Given the description of an element on the screen output the (x, y) to click on. 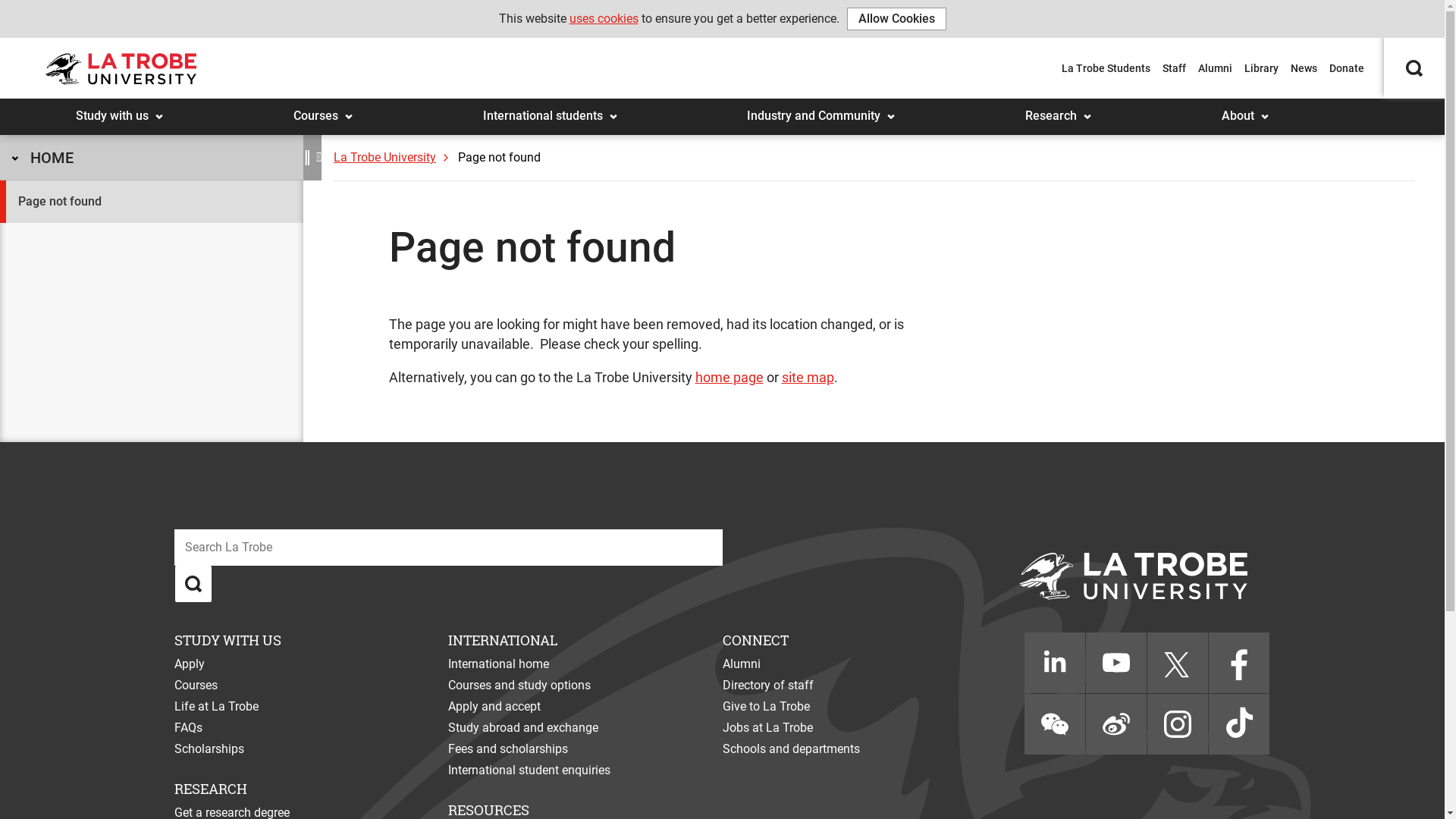
About Element type: hover (1211, 103)
Facebook Element type: text (1238, 662)
News Element type: text (1303, 68)
Jobs at La Trobe Element type: text (767, 727)
Twitter Element type: text (1177, 662)
LinkedIn Element type: text (1054, 662)
Apply and accept Element type: text (494, 706)
Apply Element type: text (189, 663)
Allow Cookies Element type: text (895, 18)
Weibo Element type: text (1115, 723)
WeChat Element type: text (1054, 723)
Staff Element type: text (1174, 68)
Give to La Trobe Element type: text (765, 706)
Courses and study options Element type: text (519, 684)
La Trobe Students Element type: text (1105, 68)
International students Element type: hover (472, 103)
Page not found Element type: text (499, 157)
Study abroad and exchange Element type: text (523, 727)
Donate Element type: text (1346, 68)
Tiktok Element type: text (1238, 723)
La Trobe University Element type: text (394, 157)
Page not found Element type: text (151, 201)
Courses Element type: hover (283, 103)
Library Element type: text (1261, 68)
Directory of staff Element type: text (767, 684)
Schools and departments Element type: text (790, 748)
Courses Element type: text (195, 684)
Study with us Element type: hover (65, 103)
HOME Element type: text (151, 157)
Research Element type: hover (1014, 103)
FAQs Element type: text (188, 727)
Industry and Community Element type: hover (736, 103)
International student enquiries Element type: text (529, 769)
Scholarships Element type: text (209, 748)
Alumni Element type: text (741, 663)
Search Element type: hover (1413, 30)
Life at La Trobe Element type: text (216, 706)
uses cookies Element type: text (602, 18)
Fees and scholarships Element type: text (507, 748)
Hide navigation panel Element type: hover (321, 157)
Instagram Element type: text (1177, 723)
Youtube Element type: text (1115, 662)
International home Element type: text (498, 663)
home page Element type: text (728, 377)
site map Element type: text (807, 377)
Alumni Element type: text (1215, 68)
